Given the description of an element on the screen output the (x, y) to click on. 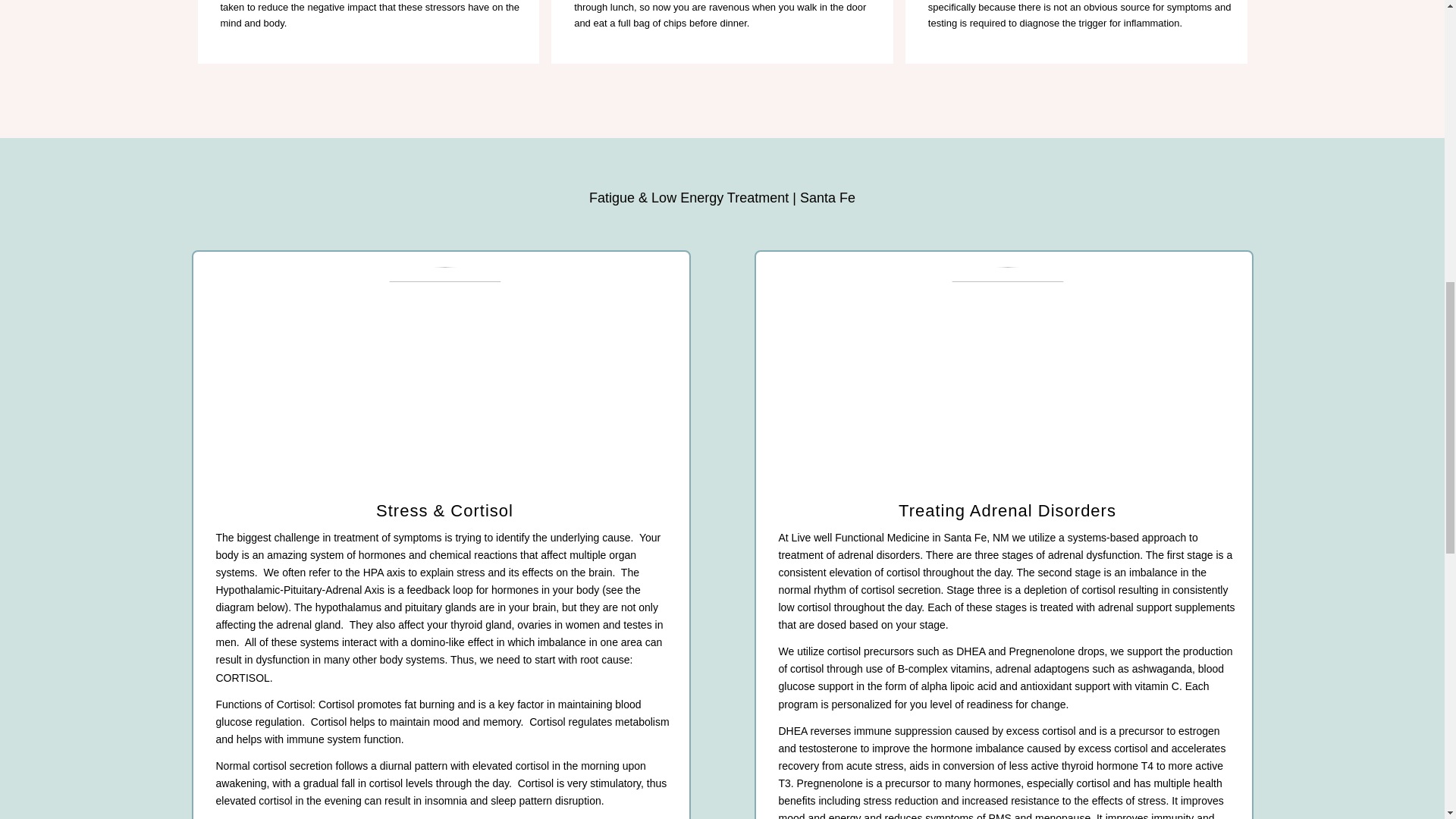
p-natural-mens-health (1007, 380)
p-natural-womens-health (443, 380)
